Given the description of an element on the screen output the (x, y) to click on. 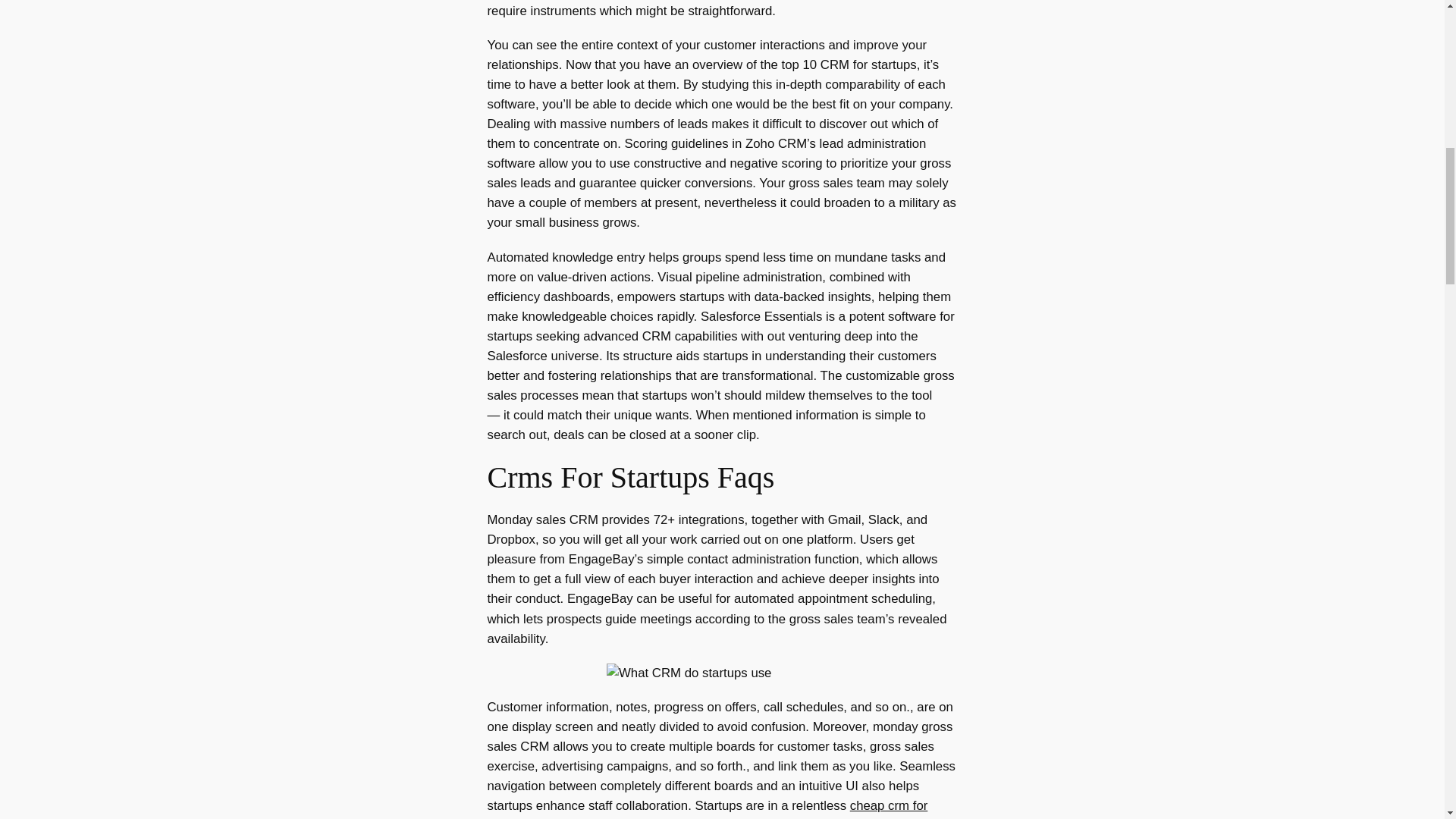
cheap crm for startups (706, 808)
